Given the description of an element on the screen output the (x, y) to click on. 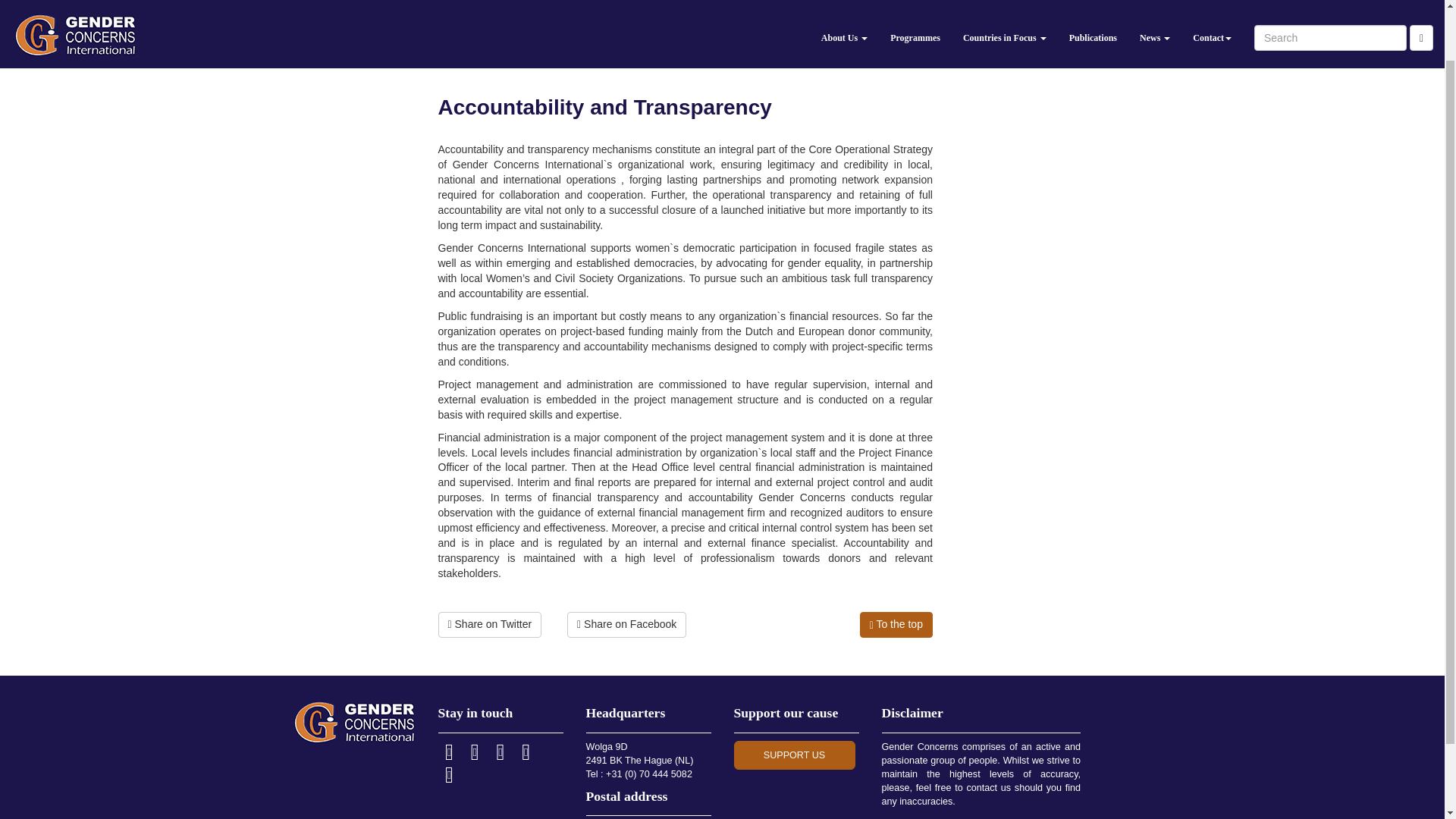
Contact (1211, 4)
Gender Concerns International (373, 51)
News (1154, 4)
Publications (1093, 4)
Programmes (915, 4)
Countries in Focus (1005, 4)
About Us (844, 4)
